Given the description of an element on the screen output the (x, y) to click on. 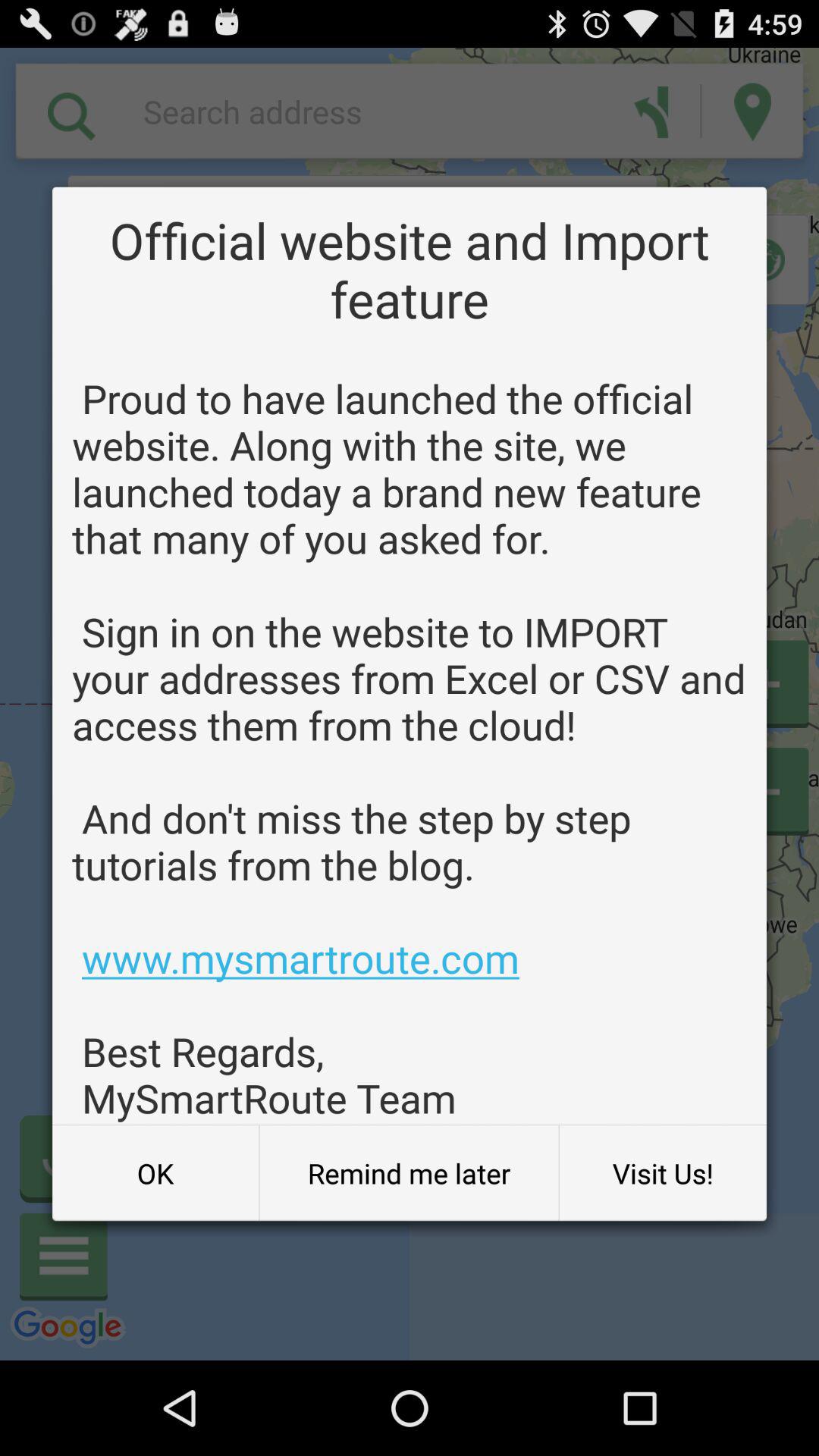
turn on the icon at the bottom left corner (155, 1173)
